Given the description of an element on the screen output the (x, y) to click on. 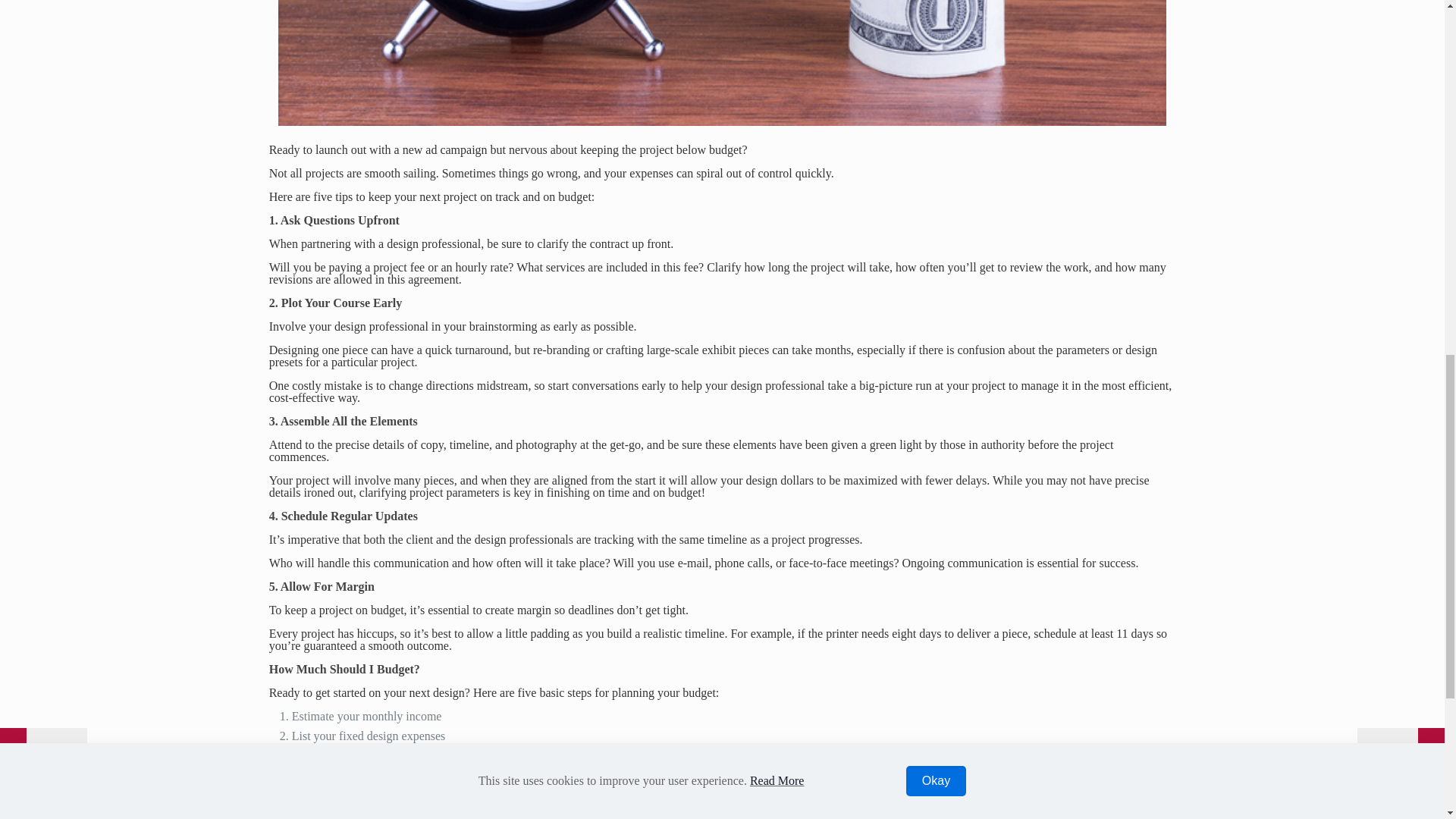
Online budget planners (325, 815)
